Given the description of an element on the screen output the (x, y) to click on. 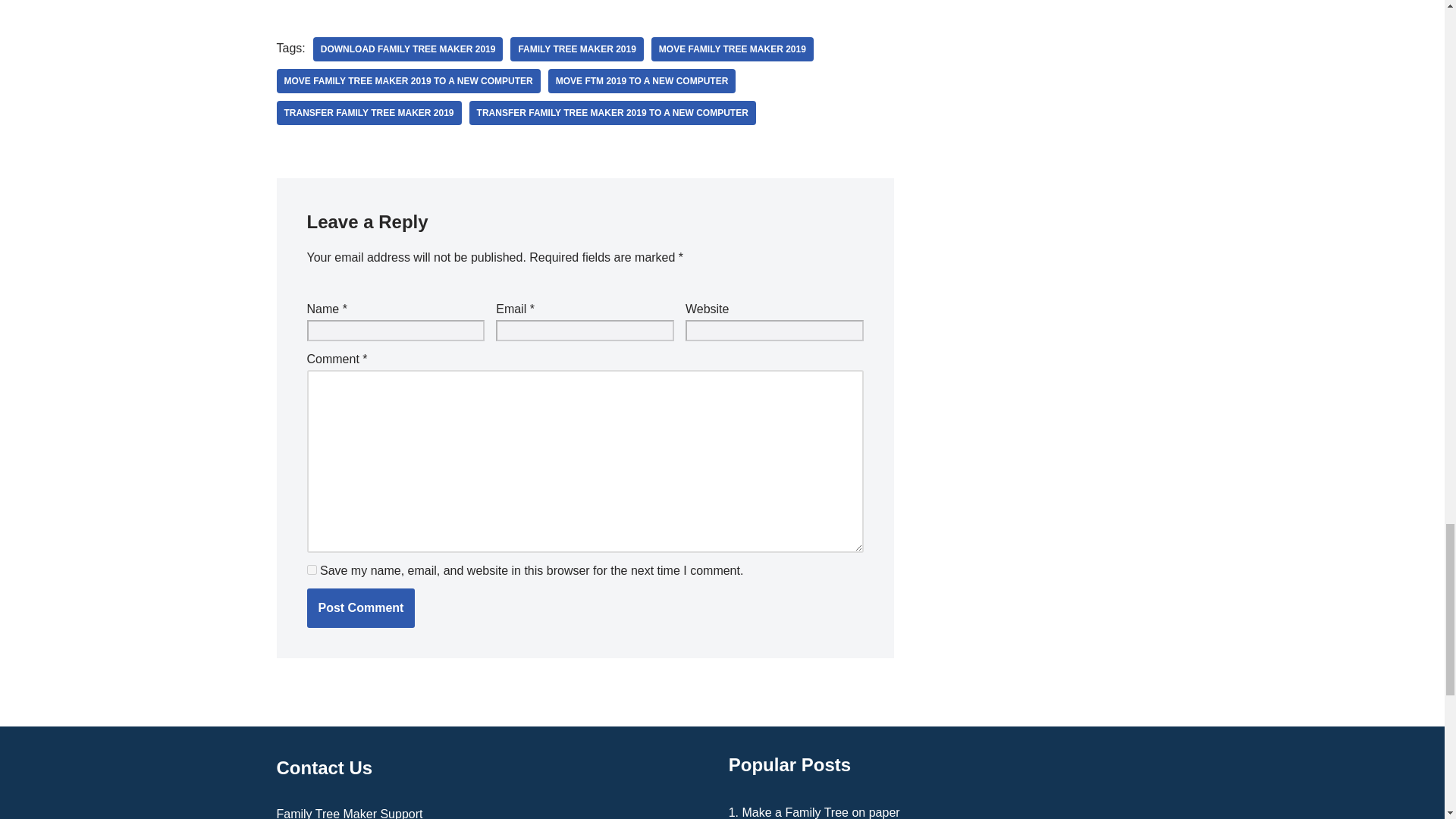
move family tree maker 2019 (731, 48)
yes (310, 569)
download family tree maker 2019 (408, 48)
MOVE FAMILY TREE MAKER 2019 TO A NEW COMPUTER (408, 80)
family tree maker 2019 (577, 48)
FAMILY TREE MAKER 2019 (577, 48)
DOWNLOAD FAMILY TREE MAKER 2019 (408, 48)
MOVE FAMILY TREE MAKER 2019 (731, 48)
Post Comment (359, 608)
